Given the description of an element on the screen output the (x, y) to click on. 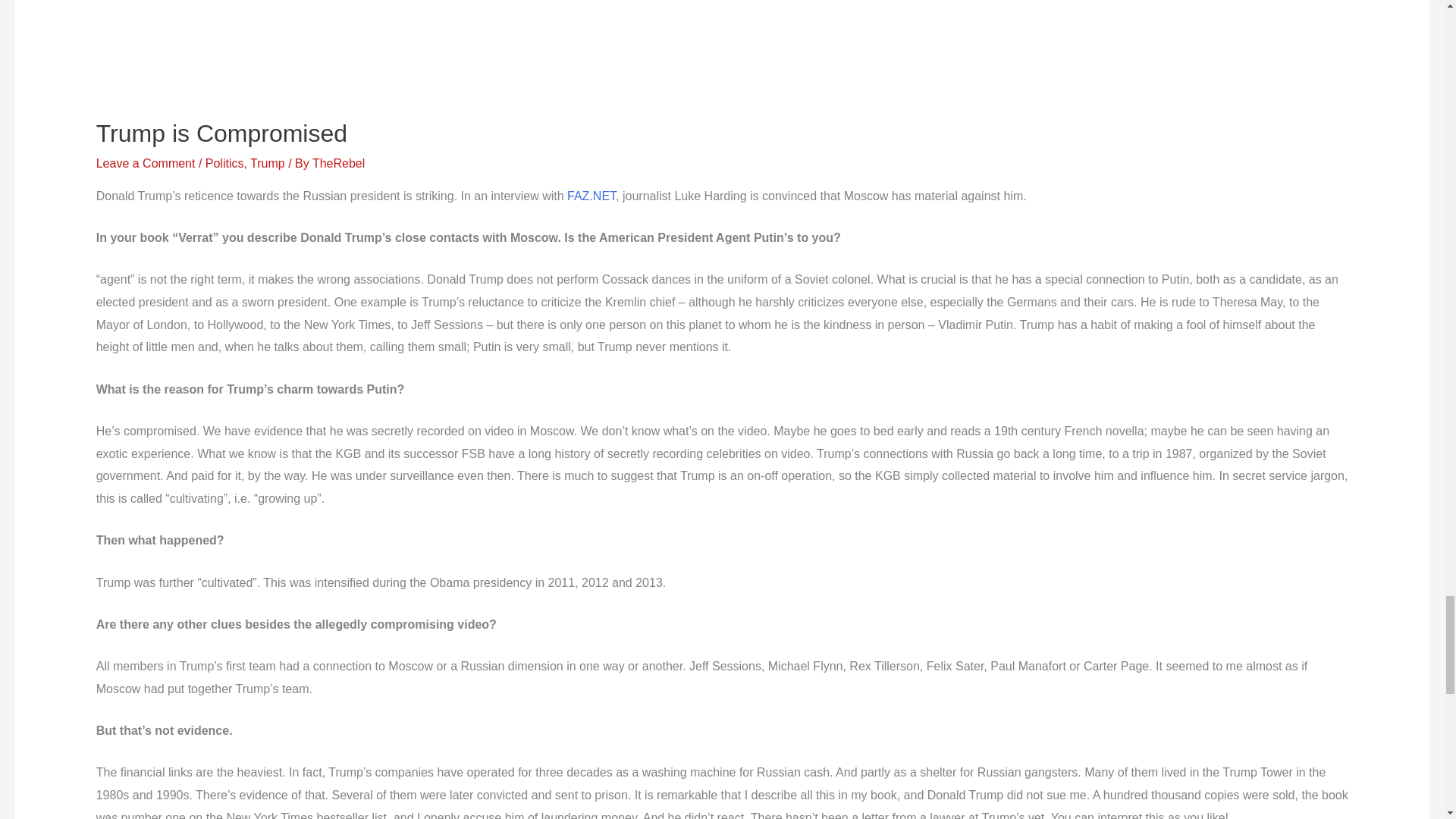
View all posts by TheRebel (339, 163)
Trump is Compromised (221, 133)
Trump (267, 163)
TheRebel (339, 163)
Leave a Comment (145, 163)
Politics (224, 163)
